Given the description of an element on the screen output the (x, y) to click on. 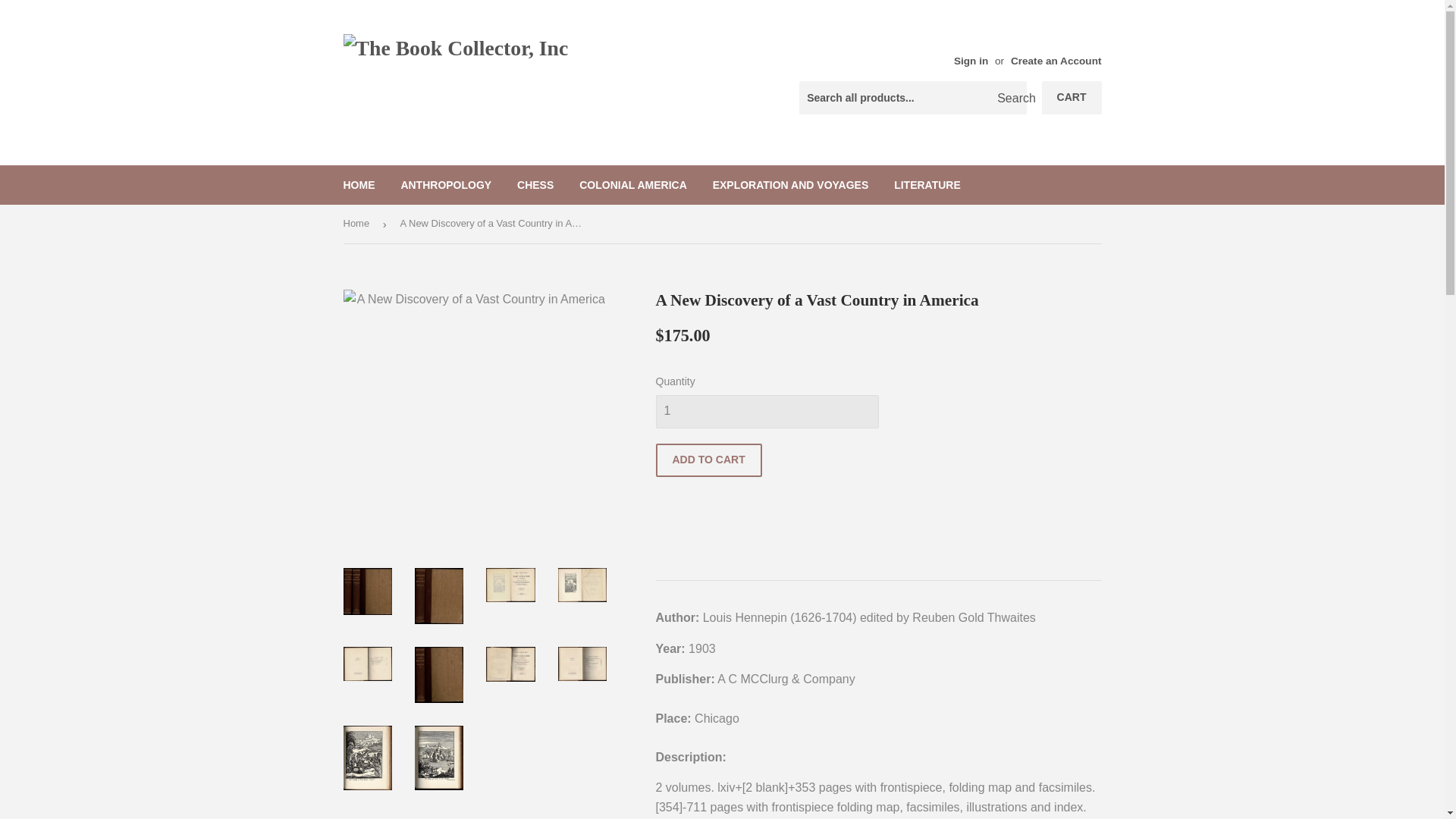
LITERATURE (927, 184)
COLONIAL AMERICA (632, 184)
ADD TO CART (708, 459)
HOME (359, 184)
CART (1072, 97)
Sign in (970, 60)
EXPLORATION AND VOYAGES (790, 184)
CHESS (534, 184)
1 (766, 411)
Search (1009, 98)
